Given the description of an element on the screen output the (x, y) to click on. 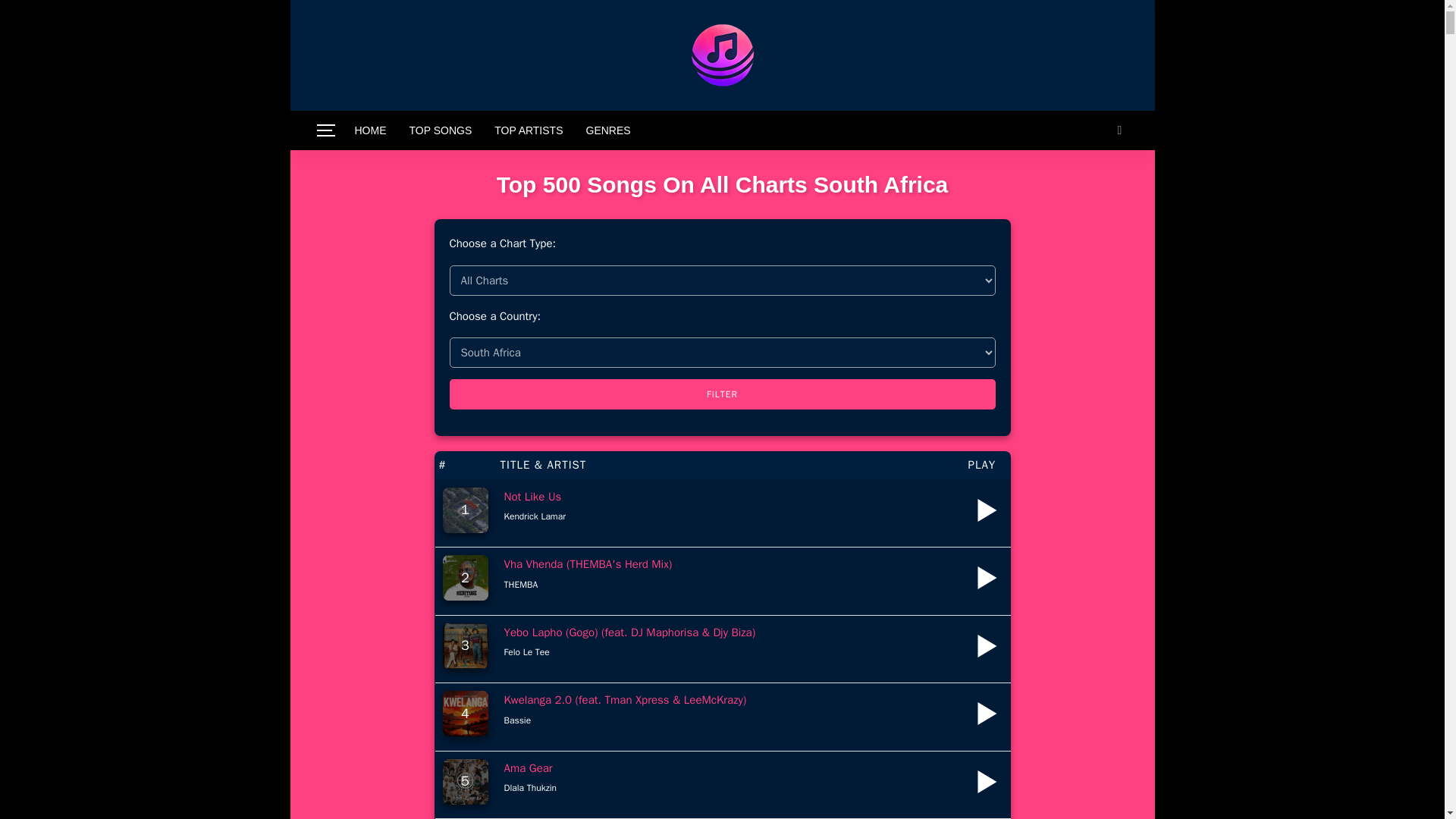
Filter (721, 394)
Ama Gear (527, 767)
Felo Le Tee (525, 652)
THEMBA (520, 583)
TOP ARTISTS (528, 129)
Kendrick Lamar (534, 516)
Bassie (517, 720)
Not Like Us (531, 496)
Dlala Thukzin (529, 787)
HOME (369, 129)
Jams (721, 54)
GENRES (608, 129)
Filter (721, 394)
TOP SONGS (440, 129)
search (1118, 129)
